Given the description of an element on the screen output the (x, y) to click on. 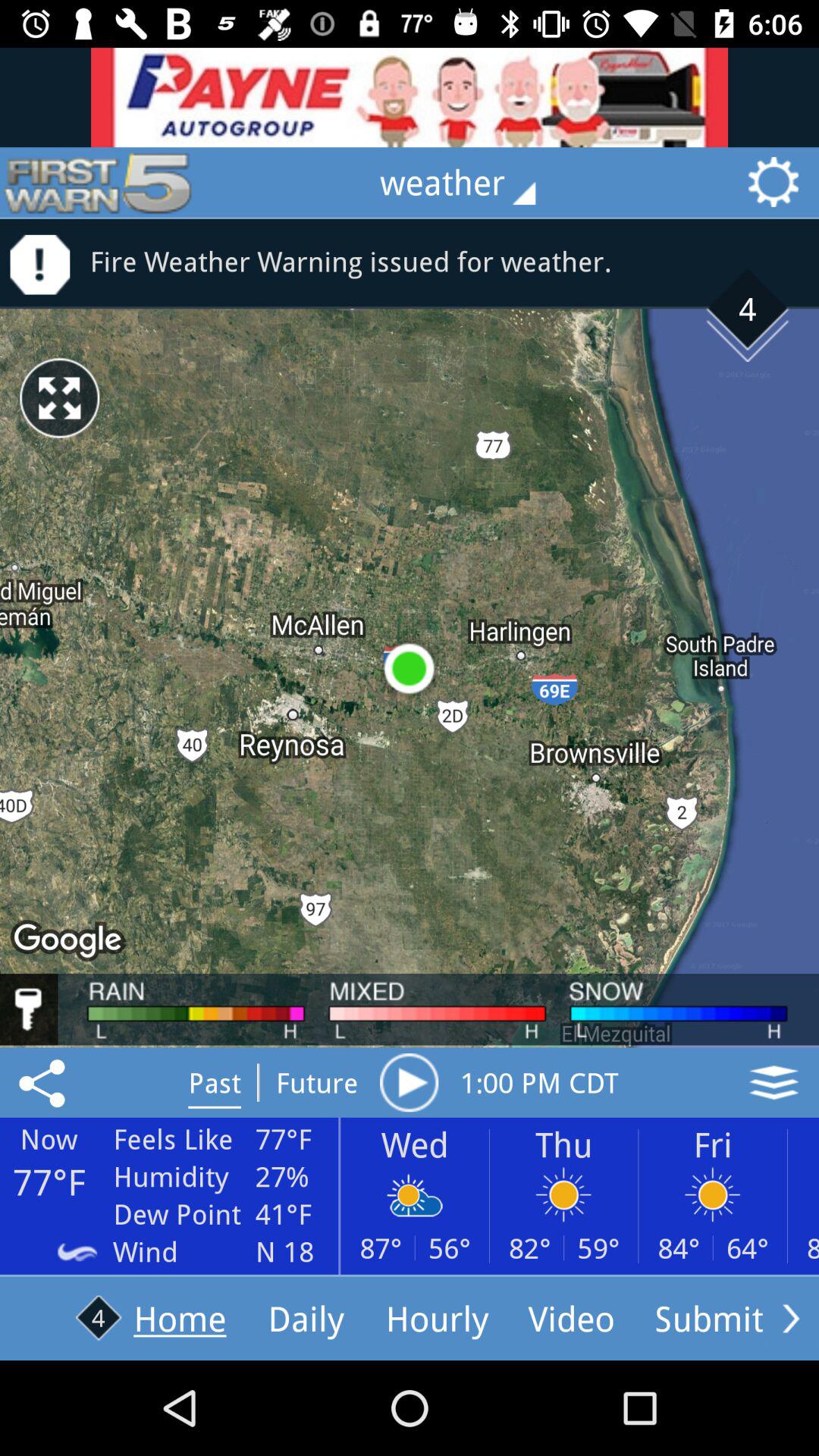
the tourist group (409, 97)
